Given the description of an element on the screen output the (x, y) to click on. 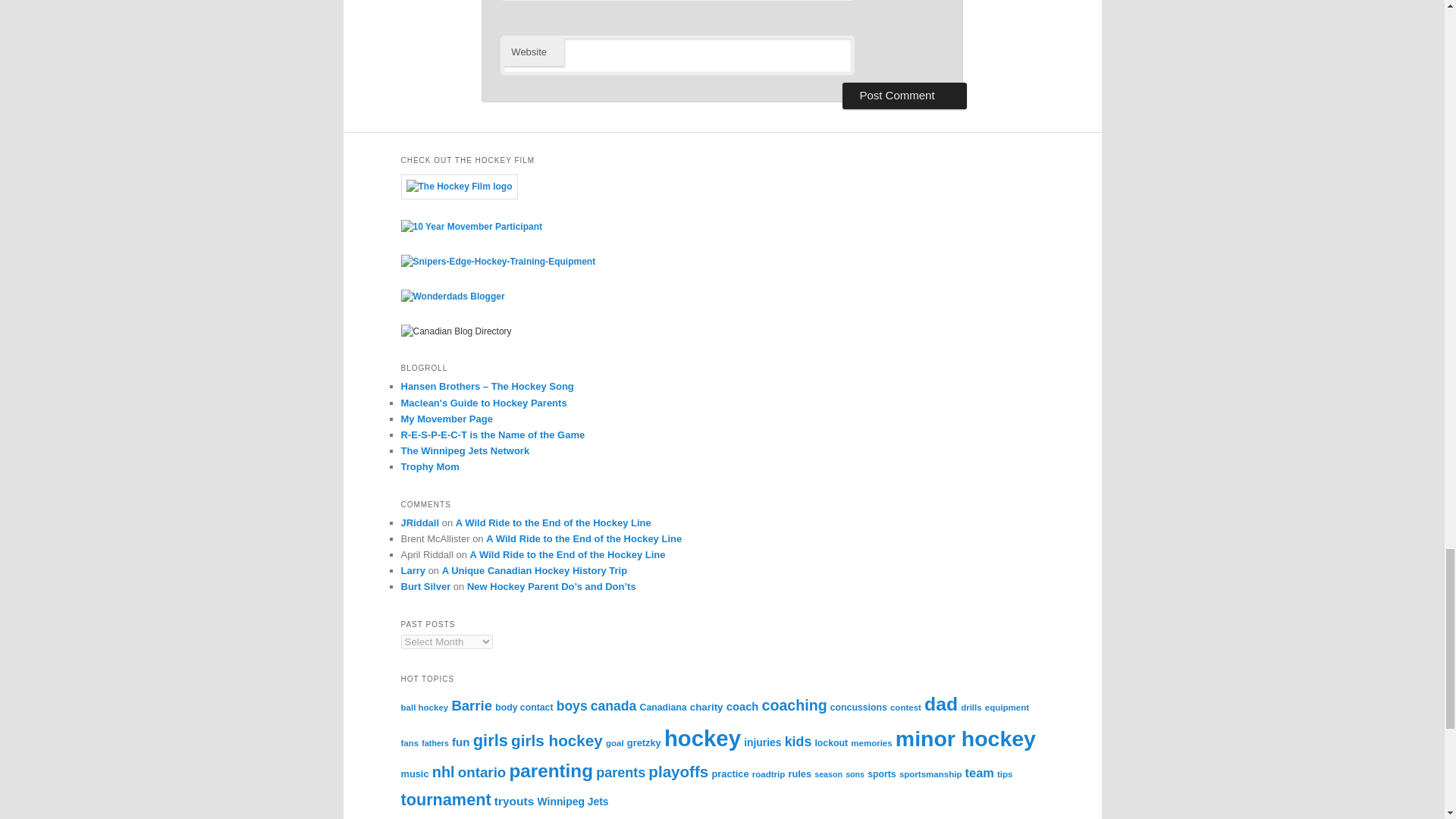
Winning ideas for sports parents. (429, 466)
Maclean's Guide to Hockey Parents (483, 402)
Snipers Edge (497, 261)
Larry (412, 570)
Post Comment (904, 95)
Hilarious analysis of the bedeviled hockey parent. (483, 402)
R-E-S-P-E-C-T is the Name of the Game (492, 434)
JRiddall (419, 522)
Post Comment (904, 95)
Classic song, by a not so classic band. (486, 386)
